Given the description of an element on the screen output the (x, y) to click on. 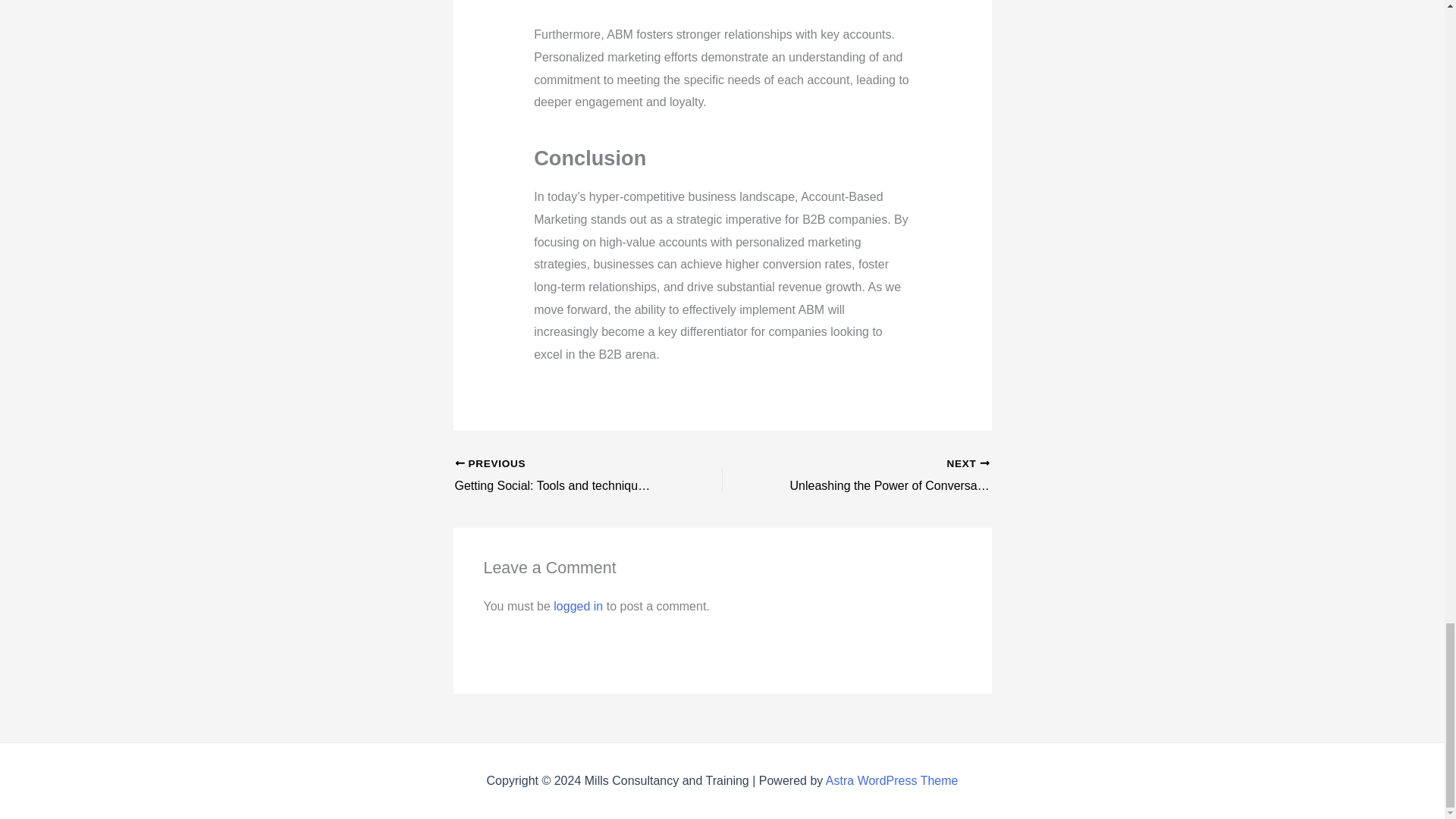
Astra WordPress Theme (891, 780)
logged in (577, 605)
